Given the description of an element on the screen output the (x, y) to click on. 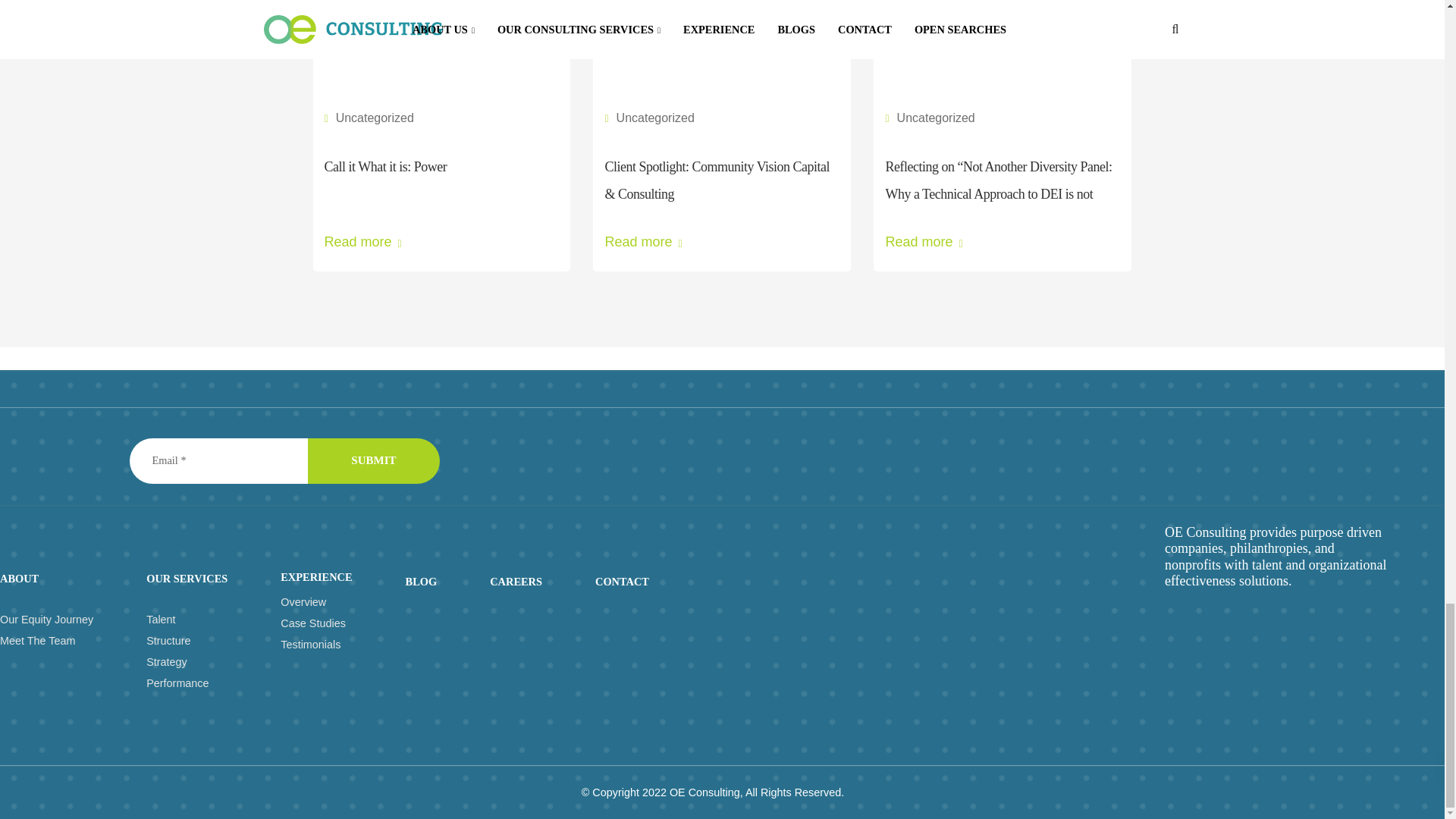
Uncategorized (374, 117)
Call it What it is: Power (385, 166)
SUBMIT (373, 461)
Call it What it is: Power (441, 76)
Read more (441, 241)
Call it What it is: Power (385, 166)
